Given the description of an element on the screen output the (x, y) to click on. 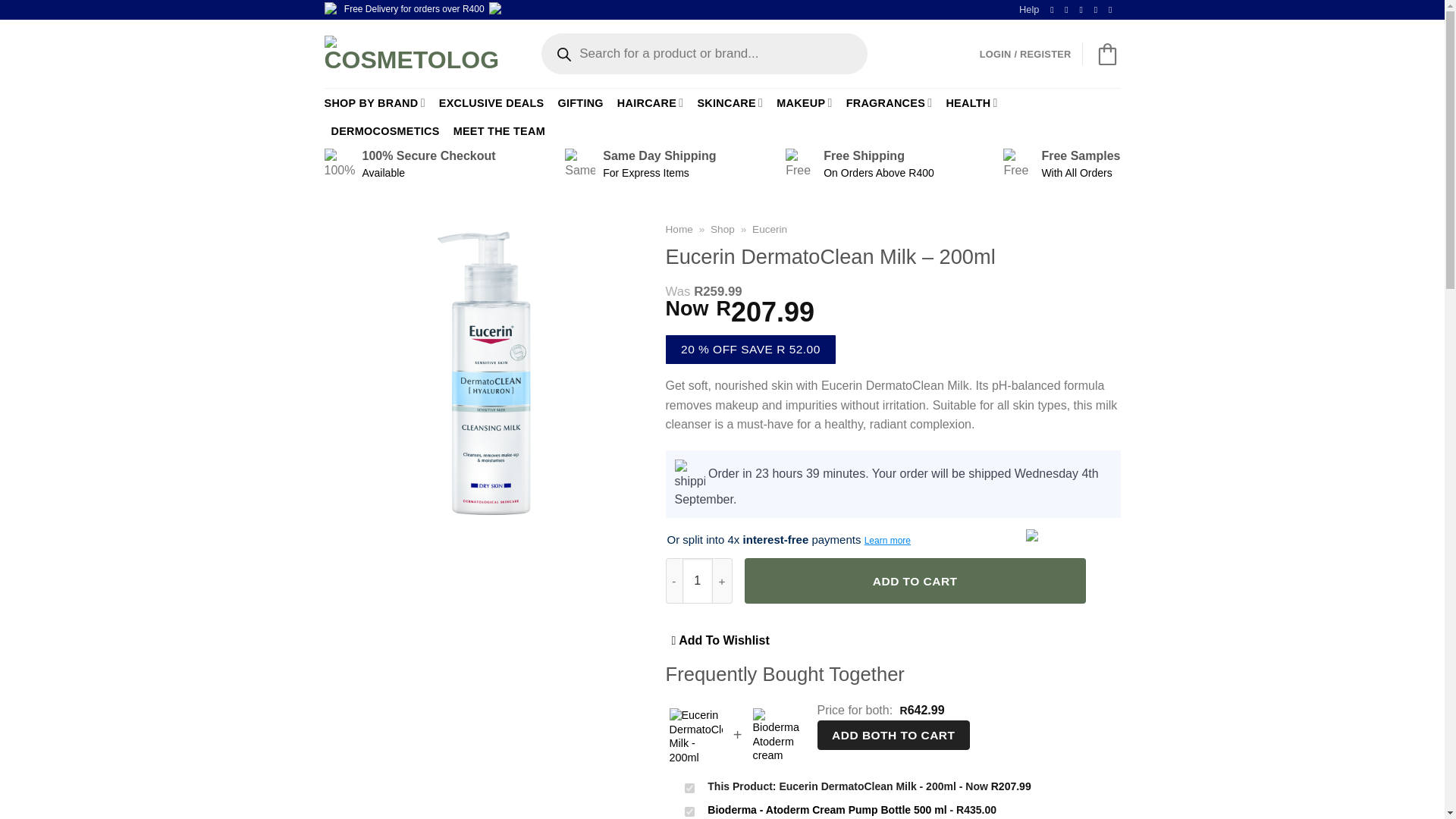
15137 (689, 811)
Login (1025, 54)
Help (1029, 9)
328111 (689, 787)
SHOP BY BRAND (374, 102)
